Given the description of an element on the screen output the (x, y) to click on. 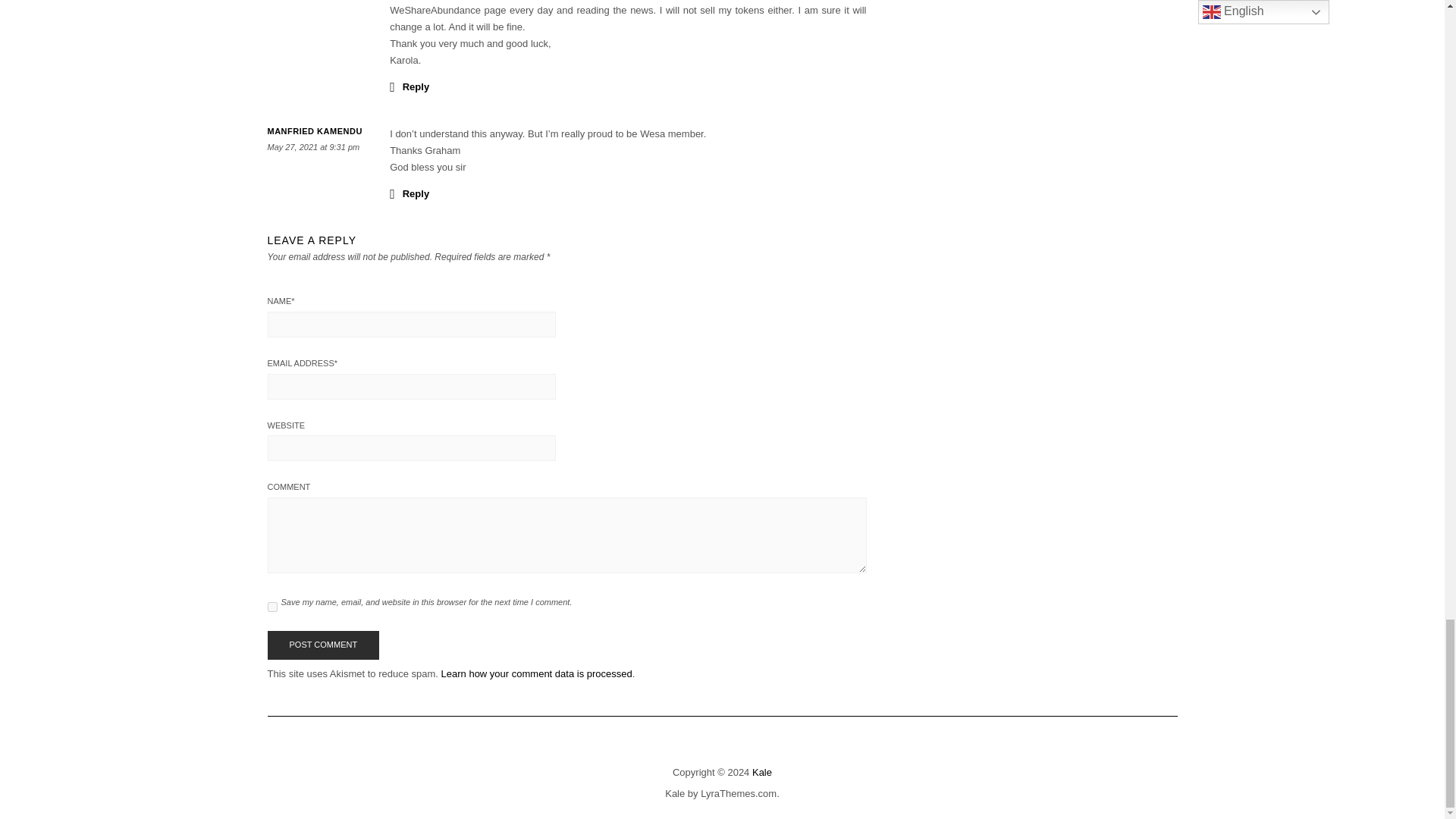
Post Comment (322, 645)
yes (271, 606)
